Given the description of an element on the screen output the (x, y) to click on. 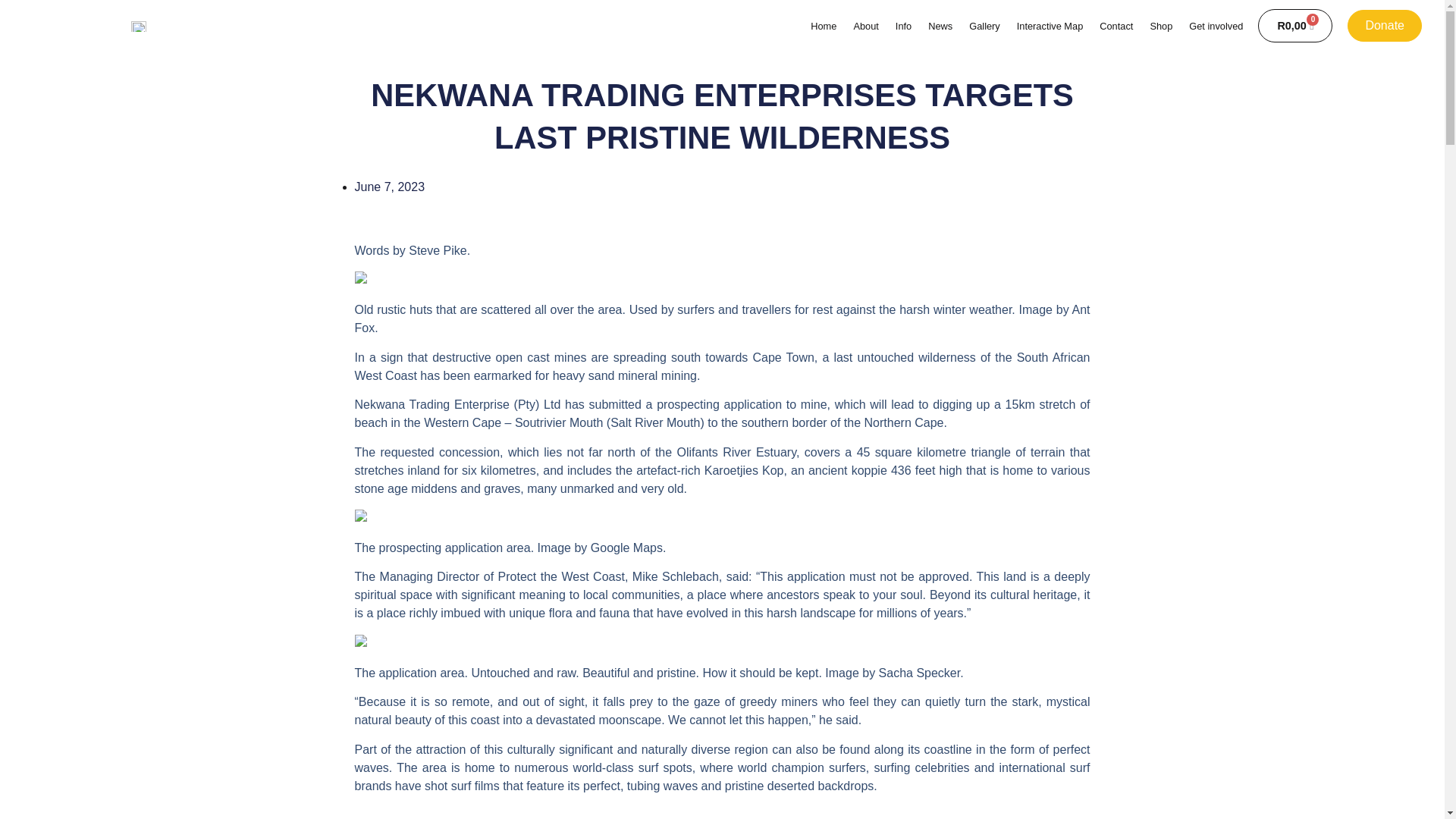
Gallery (983, 25)
News (939, 25)
About (865, 25)
Get involved (1215, 25)
Info (903, 25)
Contact (1116, 25)
Home (823, 25)
Shop (1160, 25)
Interactive Map (1049, 25)
